Given the description of an element on the screen output the (x, y) to click on. 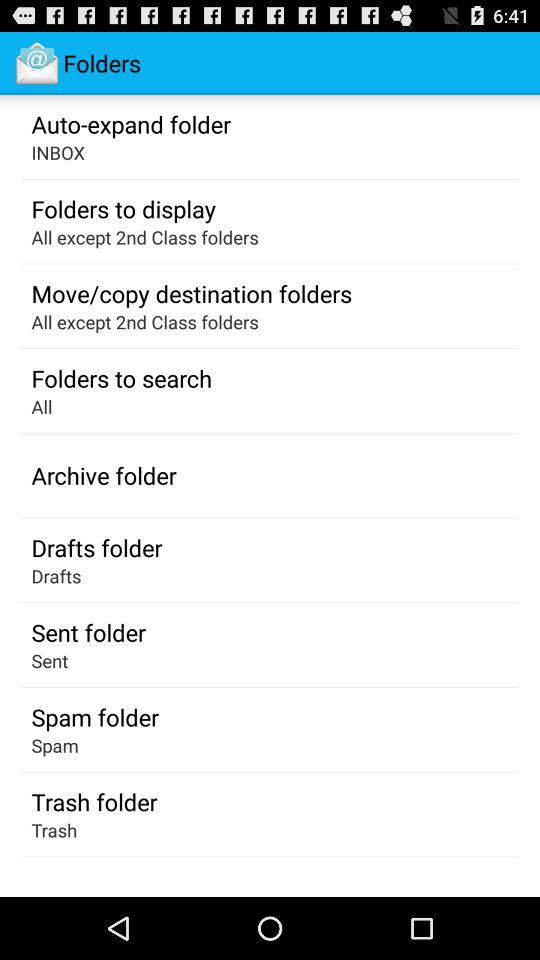
turn off icon above the trash app (94, 801)
